Given the description of an element on the screen output the (x, y) to click on. 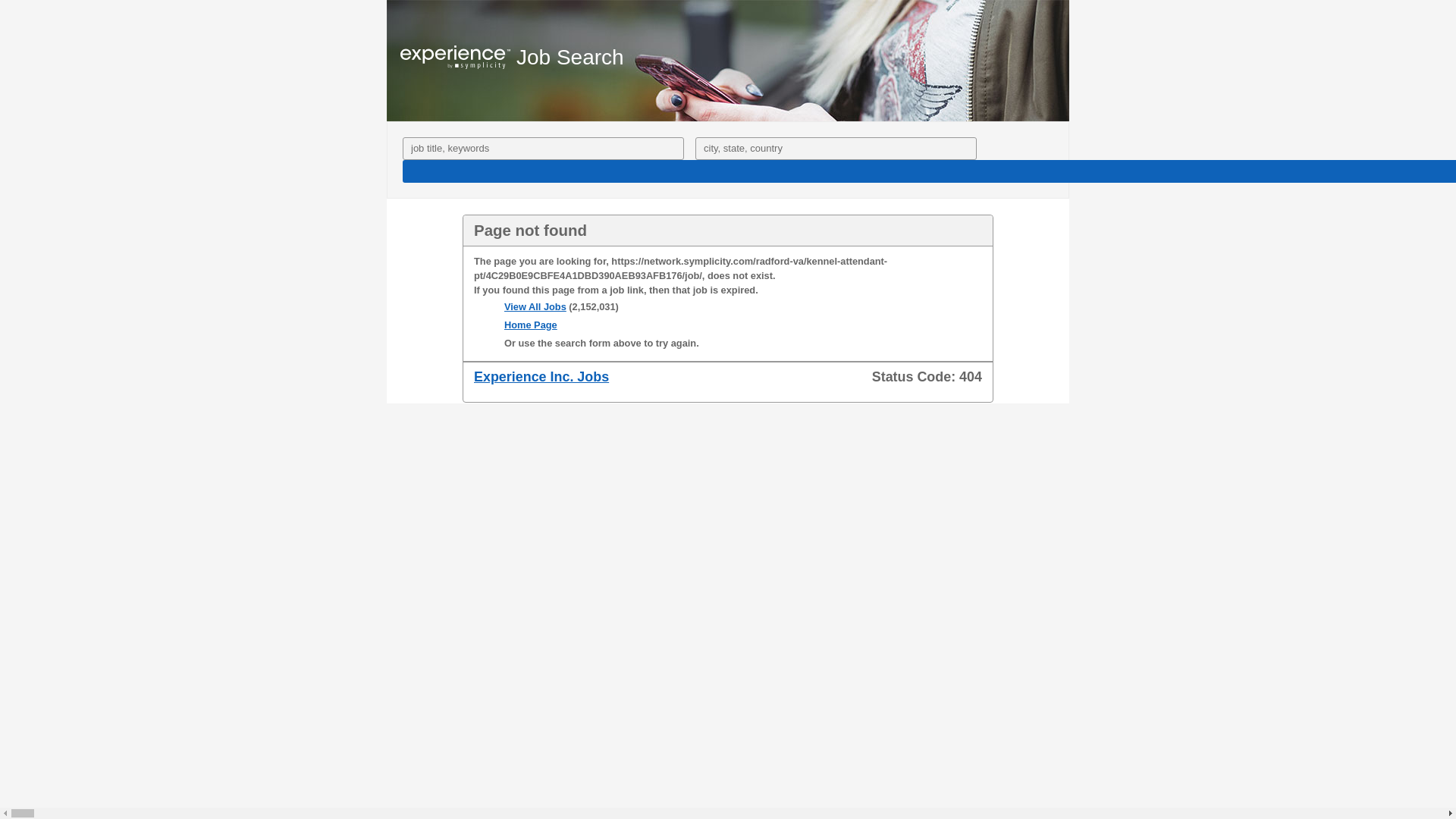
Home Page (530, 324)
Search Location (835, 148)
Experience Inc. Jobs (541, 376)
View All Jobs (534, 306)
Search Phrase (543, 148)
